Given the description of an element on the screen output the (x, y) to click on. 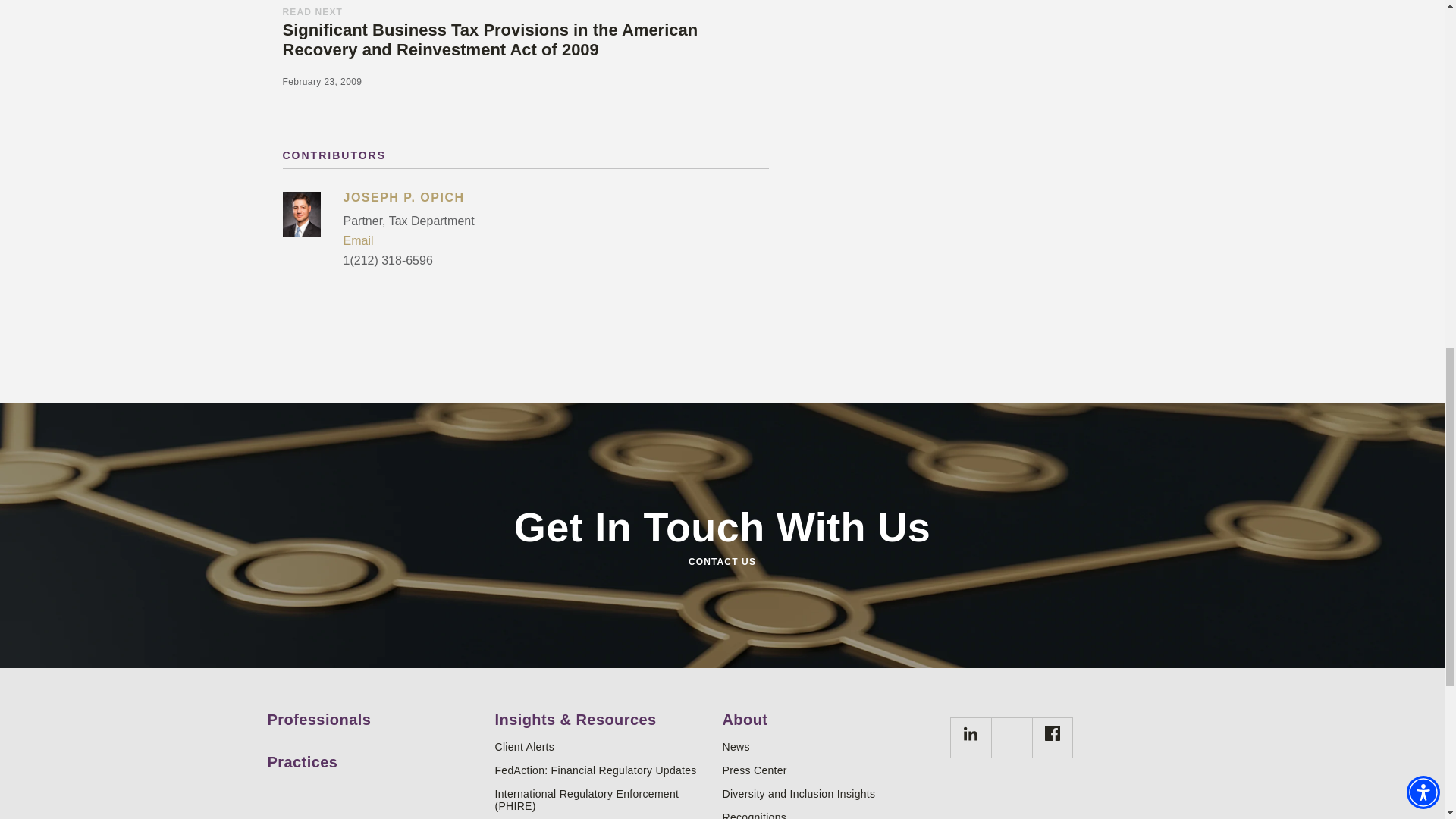
Professionals (374, 713)
BC42128A-F0DE-4FE2-9372-6CDE6D4F5957Created with sketchtool. (1050, 737)
News (829, 746)
About (829, 713)
FedAction: Financial Regulatory Updates (602, 770)
Practices (374, 756)
CB6A0679-7CD4-47AB-9AF9-079521319001Created with sketchtool. (969, 733)
Recognitions (829, 815)
CONTACT US (721, 561)
